Given the description of an element on the screen output the (x, y) to click on. 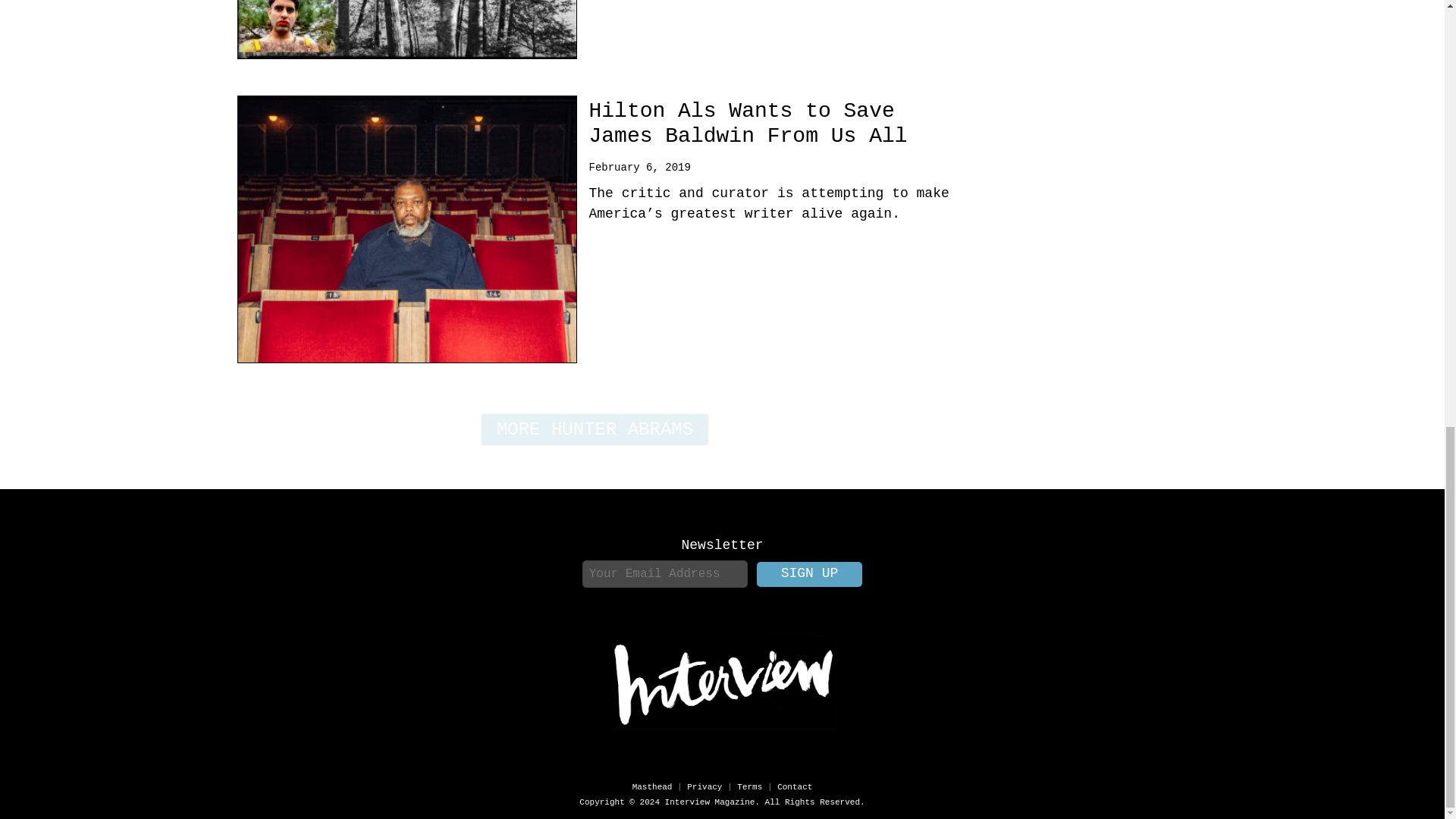
Sign up (810, 574)
Contact (794, 786)
Masthead (651, 786)
Privacy (704, 786)
Sign up (810, 574)
Terms (748, 786)
Newsletter (721, 544)
MORE HUNTER ABRAMS (594, 429)
